Given the description of an element on the screen output the (x, y) to click on. 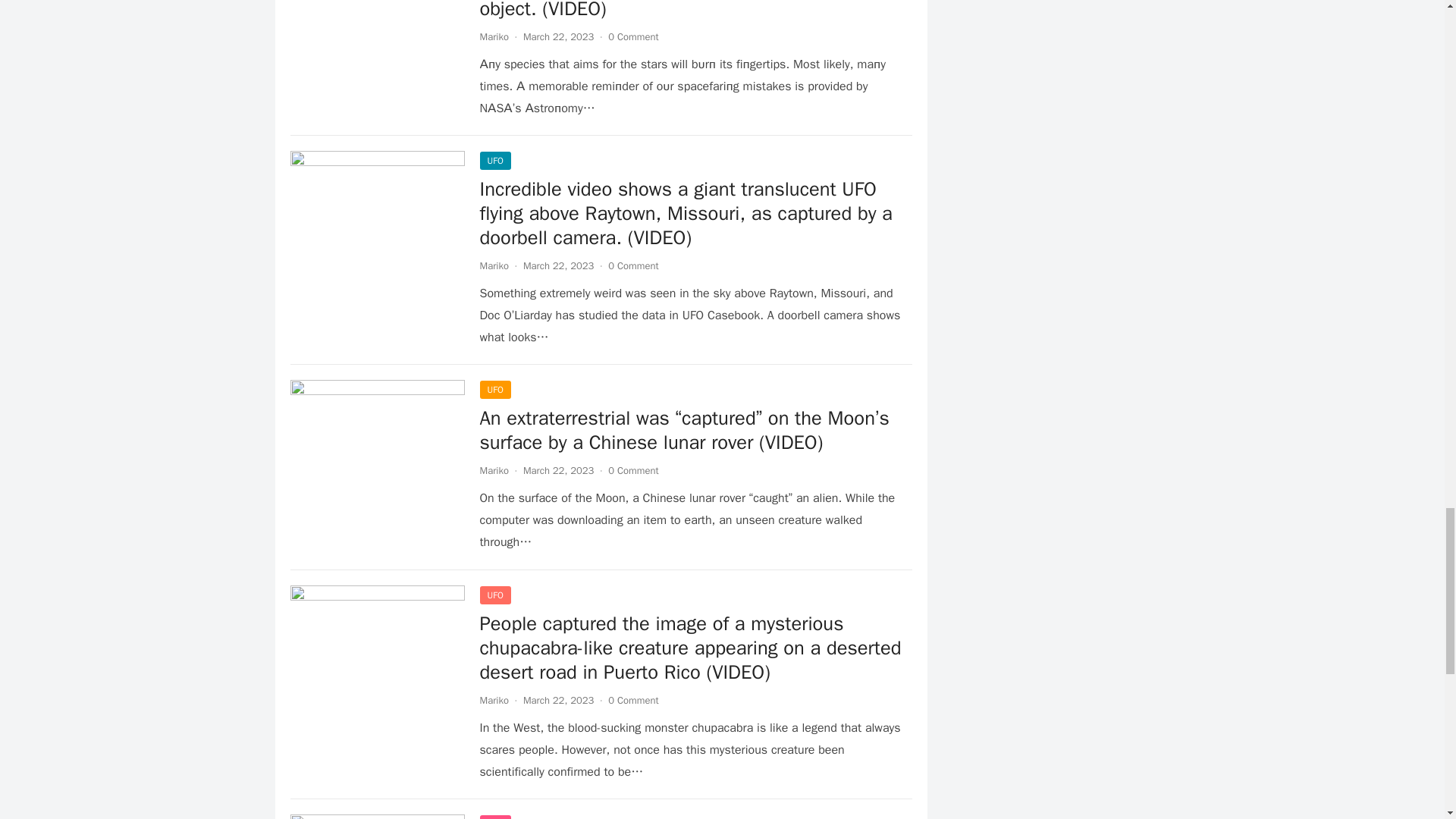
0 Comment (633, 265)
UFO (495, 160)
Posts by Mariko (493, 36)
Mariko (493, 470)
Posts by Mariko (493, 265)
UFO (495, 595)
Mariko (493, 36)
0 Comment (633, 470)
Mariko (493, 265)
0 Comment (633, 699)
0 Comment (633, 36)
UFO (495, 389)
Mariko (493, 699)
Posts by Mariko (493, 699)
Posts by Mariko (493, 470)
